Given the description of an element on the screen output the (x, y) to click on. 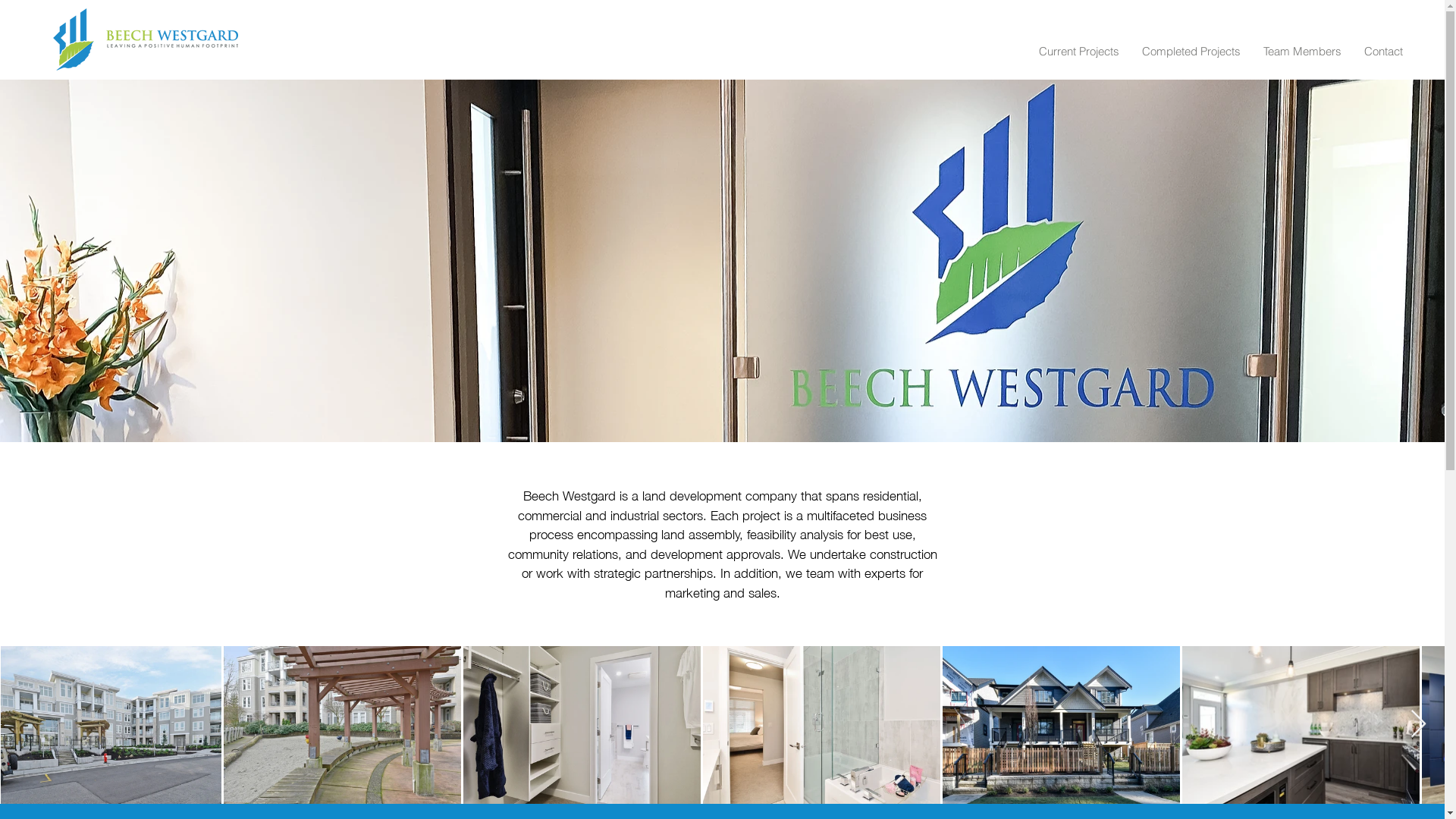
Current Projects Element type: text (1078, 51)
Team Members Element type: text (1302, 51)
Contact Element type: text (1383, 51)
Completed Projects Element type: text (1191, 51)
